Given the description of an element on the screen output the (x, y) to click on. 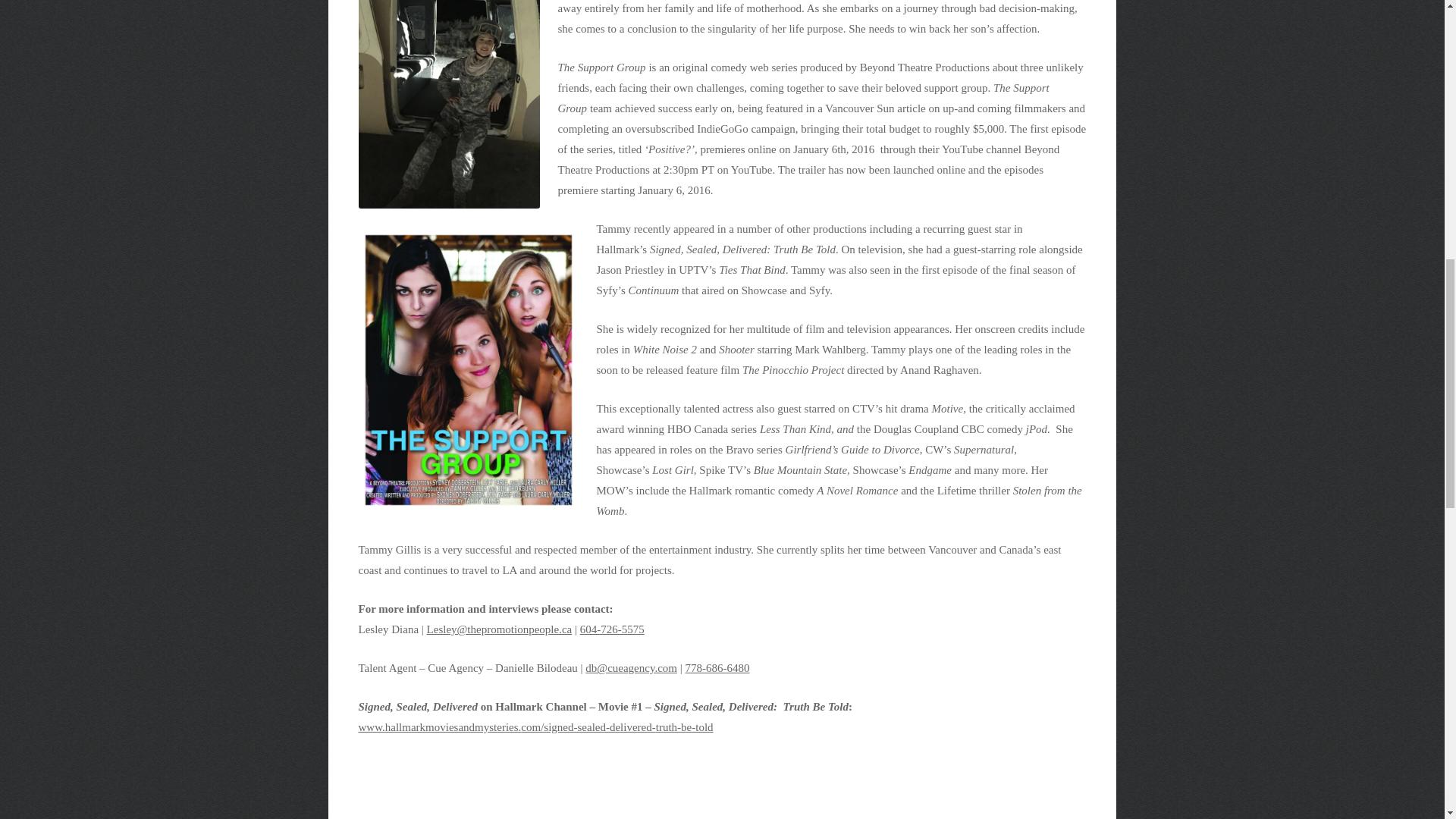
778-686-6480 (717, 667)
604-726-5575 (612, 629)
